Given the description of an element on the screen output the (x, y) to click on. 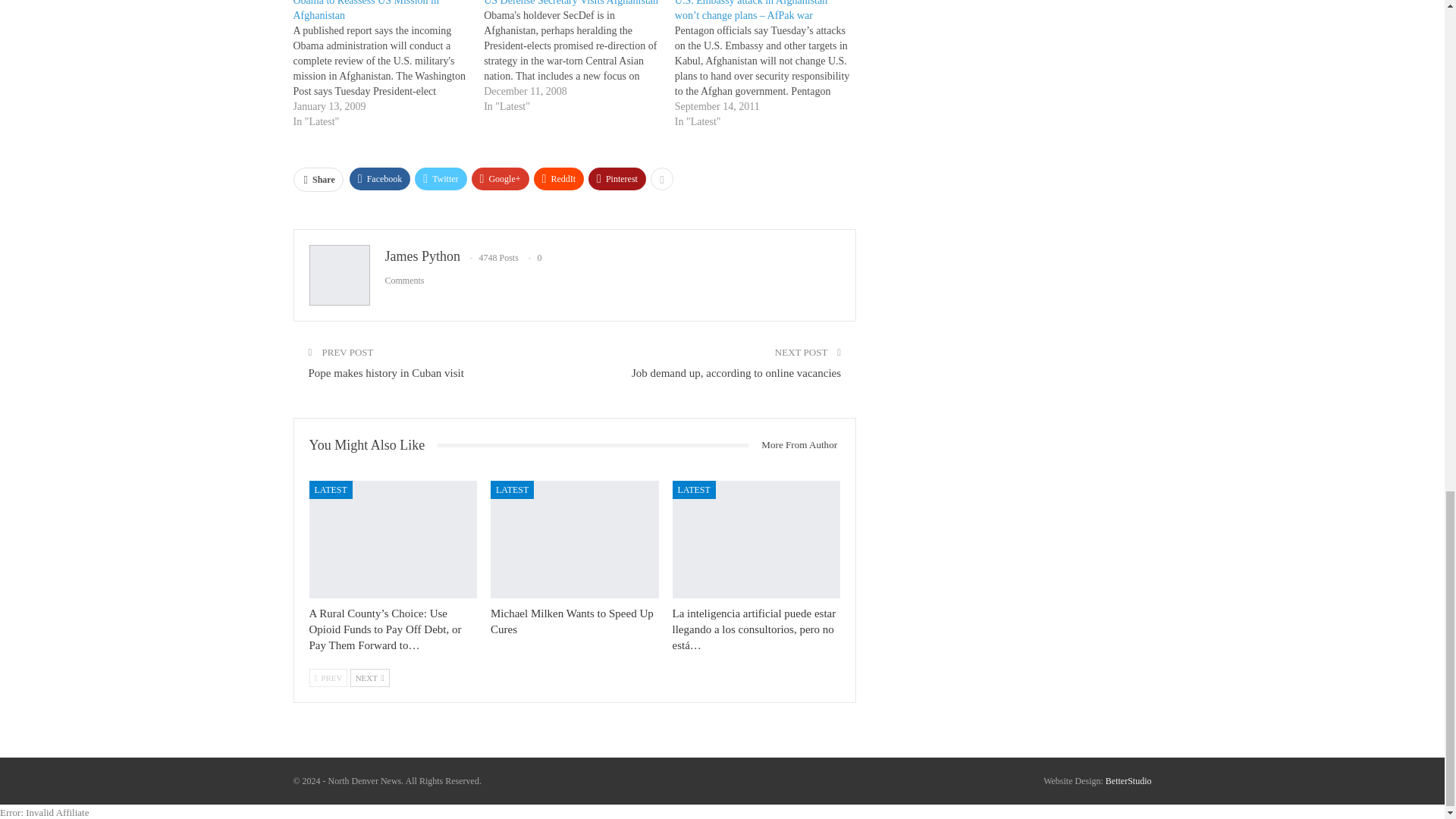
Obama to Reassess US Mission in Afghanistan (365, 10)
Obama to Reassess US Mission in Afghanistan (387, 64)
